Given the description of an element on the screen output the (x, y) to click on. 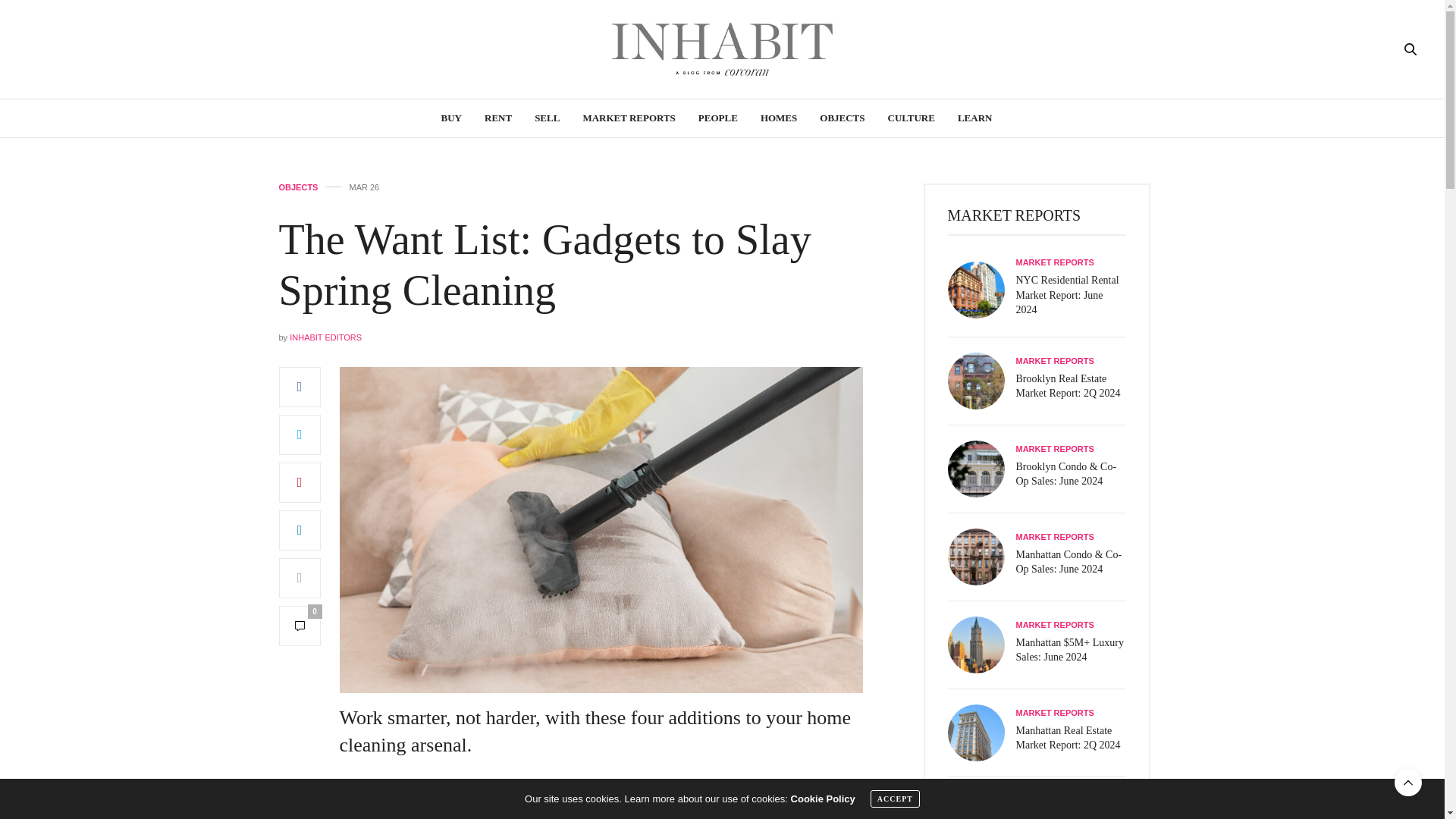
LEARN (975, 118)
INHABIT EDITORS (325, 337)
CULTURE (911, 118)
PEOPLE (718, 118)
HOMES (778, 118)
OBJECTS (298, 187)
MARKET REPORTS (628, 118)
Inhabit (721, 49)
OBJECTS (841, 118)
NYC Residential Rental Market Report: June 2024 (981, 289)
0 (299, 626)
Posts by Inhabit Editors (325, 337)
